Given the description of an element on the screen output the (x, y) to click on. 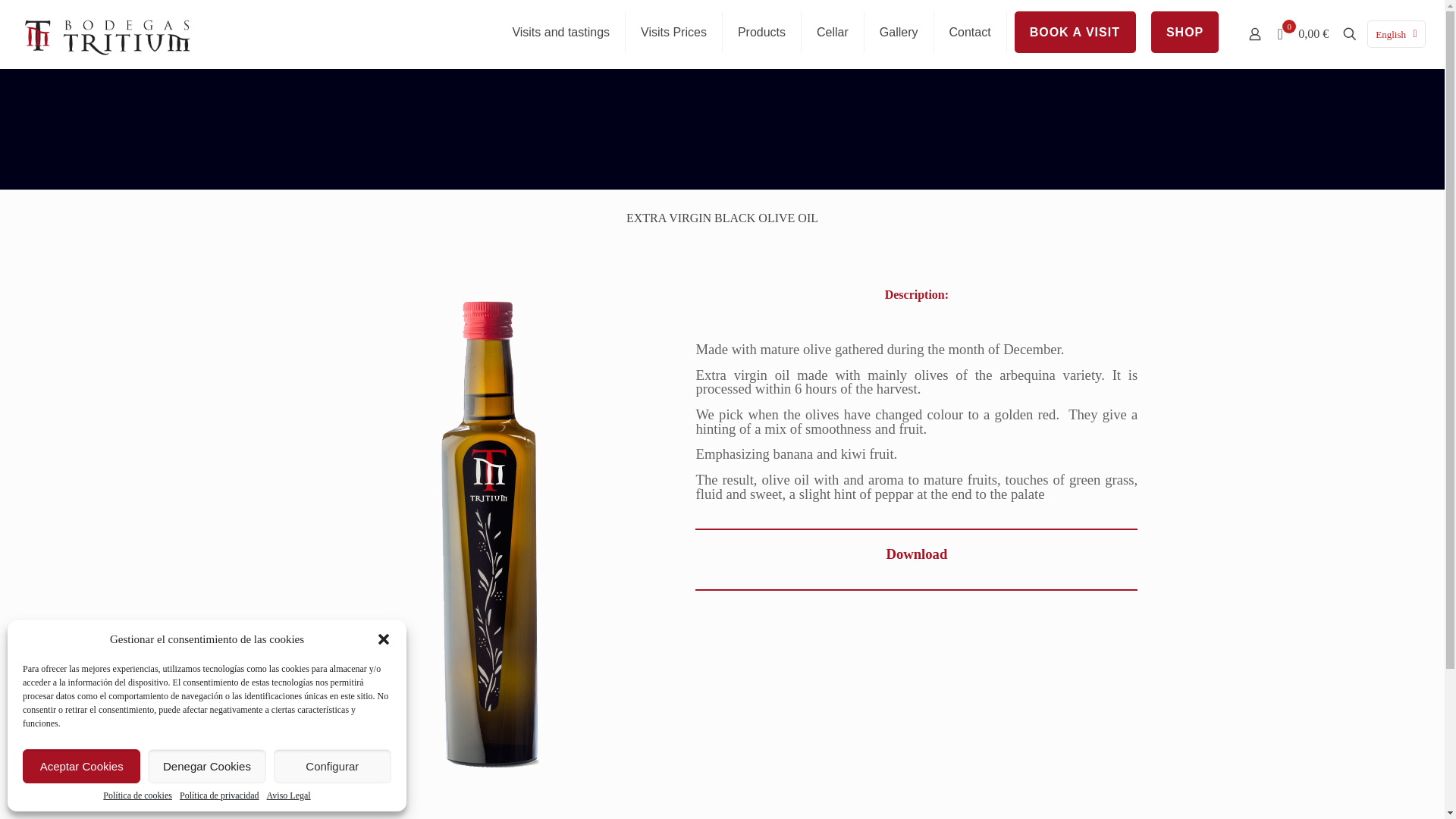
Configurar (332, 765)
Cellar (833, 32)
Aceptar Cookies (81, 765)
Bodegas Tritium (107, 33)
Aviso Legal (288, 795)
Denegar Cookies (206, 765)
Products (762, 32)
Visits Prices (674, 32)
Gallery (899, 32)
Visits and tastings (561, 32)
